Given the description of an element on the screen output the (x, y) to click on. 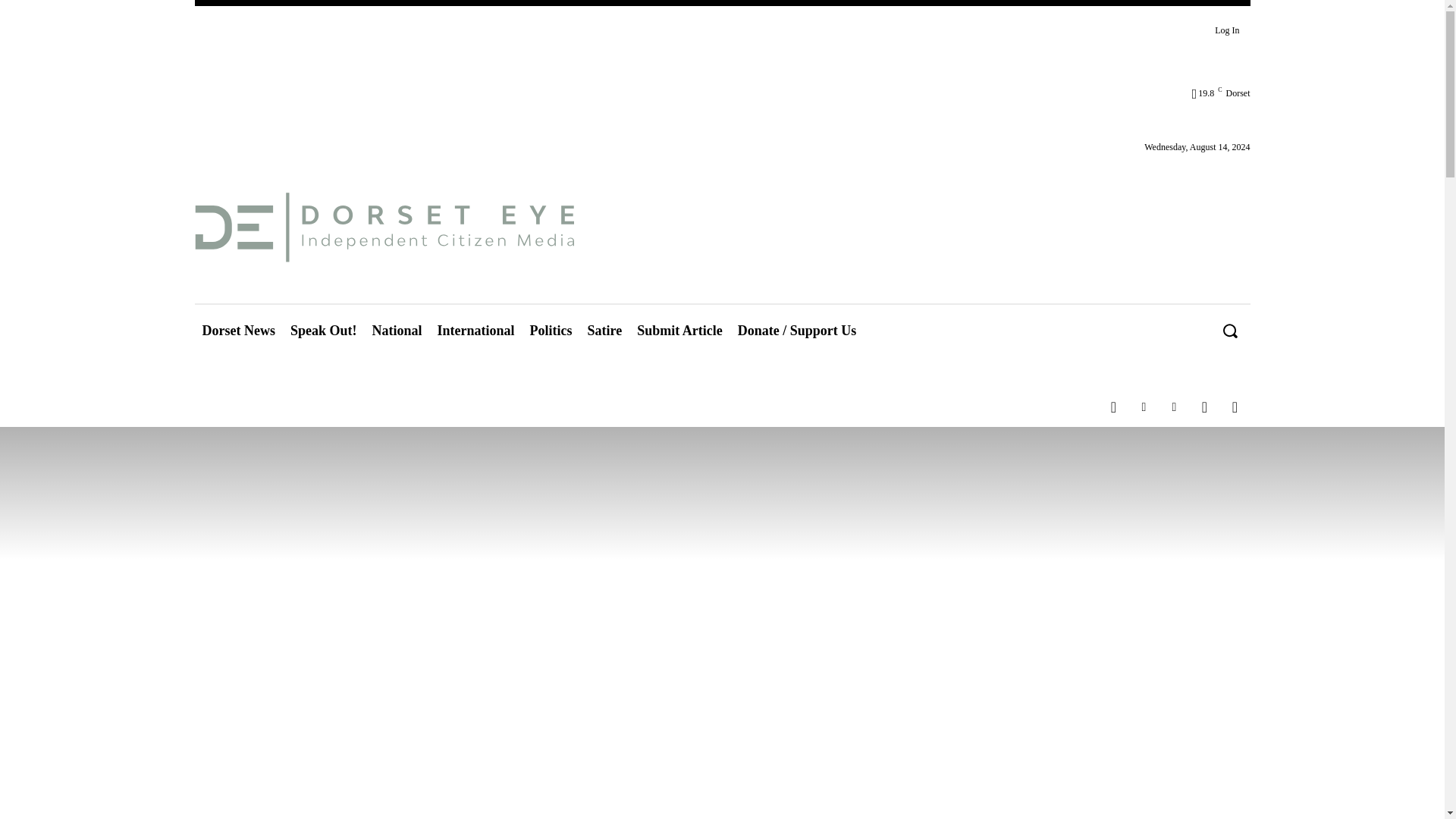
Facebook (1112, 407)
National (396, 330)
Submit Article (679, 330)
Satire (604, 330)
Twitter (1204, 407)
Politics (550, 330)
Youtube (1234, 407)
Dorset News (237, 330)
Log In (1226, 30)
International (475, 330)
